Given the description of an element on the screen output the (x, y) to click on. 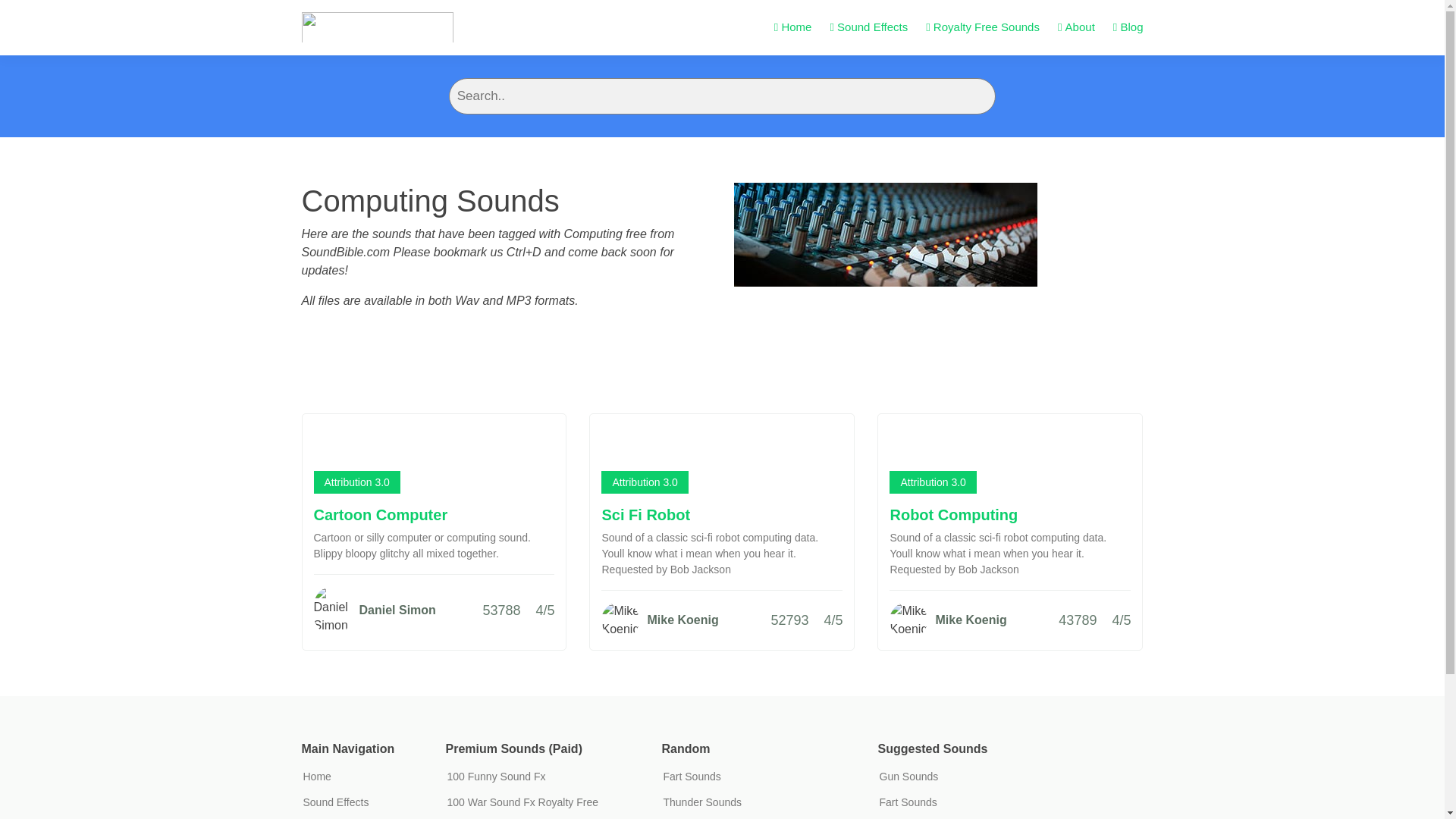
100 Funny Sound Fx (496, 776)
Home (793, 27)
About (1076, 27)
Fart Sounds (908, 801)
Sound Effects (868, 27)
Thunder Sounds (701, 801)
thunder sounds (701, 801)
fart sounds (691, 776)
Gun Sounds (909, 776)
100 Funny Sound Fx (496, 776)
Fart Sounds (691, 776)
Home (316, 776)
Fart Sounds (908, 801)
Blog (1127, 27)
Cartoon Computer (381, 514)
